Given the description of an element on the screen output the (x, y) to click on. 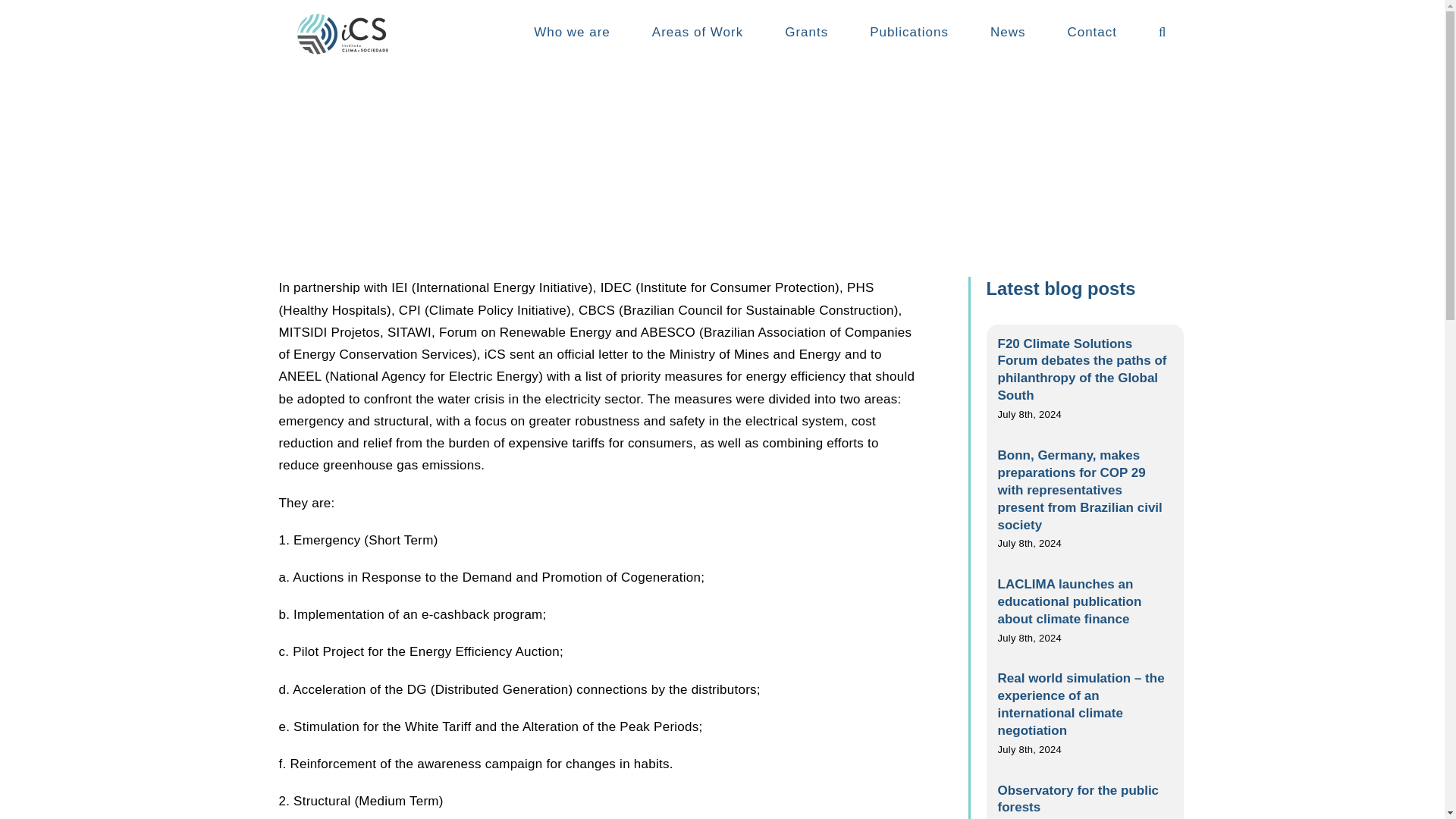
Publications (909, 32)
Areas of Work (697, 32)
Who we are (572, 32)
